Given the description of an element on the screen output the (x, y) to click on. 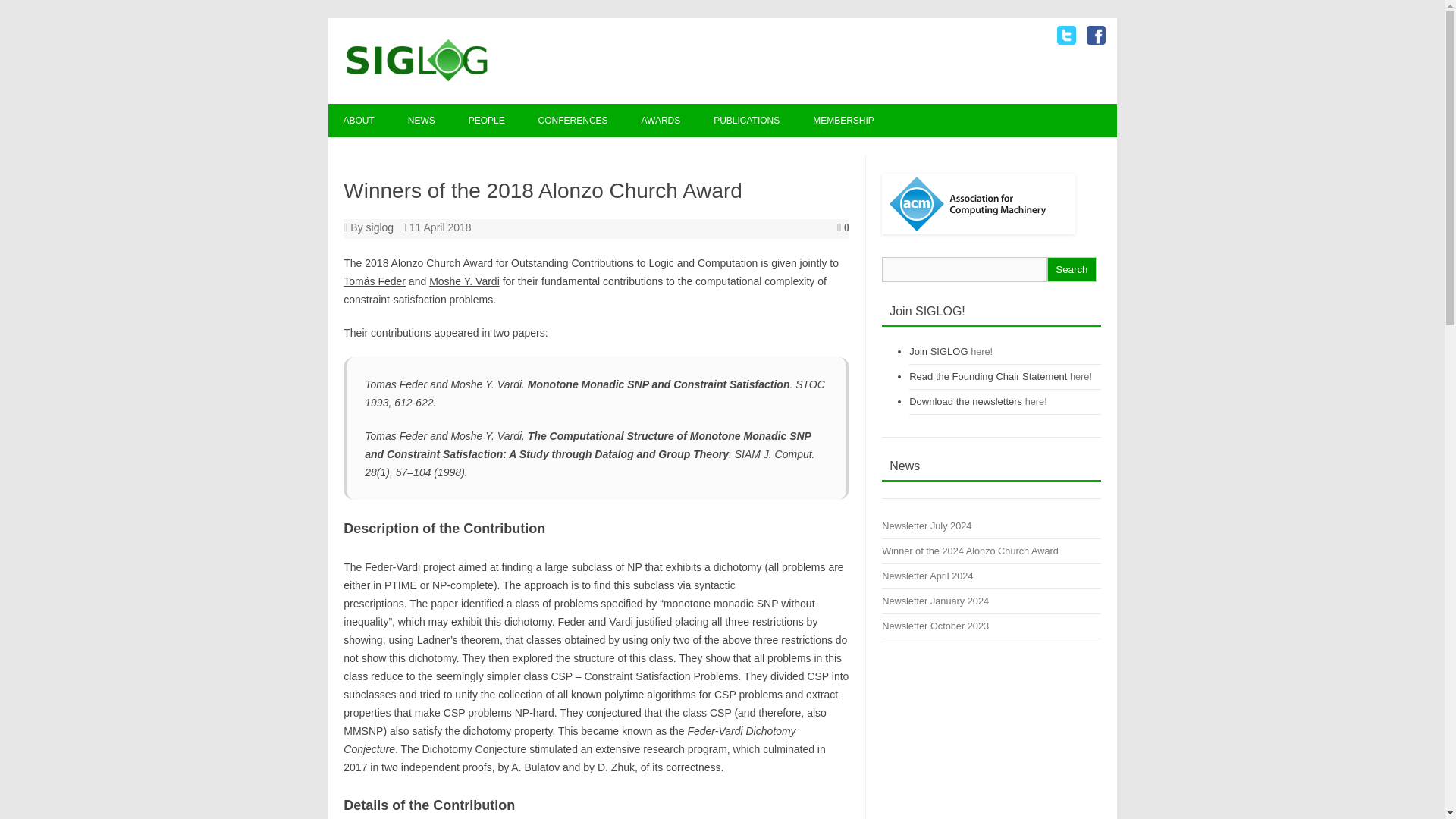
here! (1081, 376)
CONFERENCES (572, 120)
here! (1035, 401)
ACM Special Interest Group on Logic and Computation (416, 78)
Newsletter October 2023 (935, 625)
Winner of the 2024 Alonzo Church Award (970, 550)
PUBLICATIONS (746, 120)
Moshe Y. Vardi (464, 281)
Skip to content (757, 109)
